Given the description of an element on the screen output the (x, y) to click on. 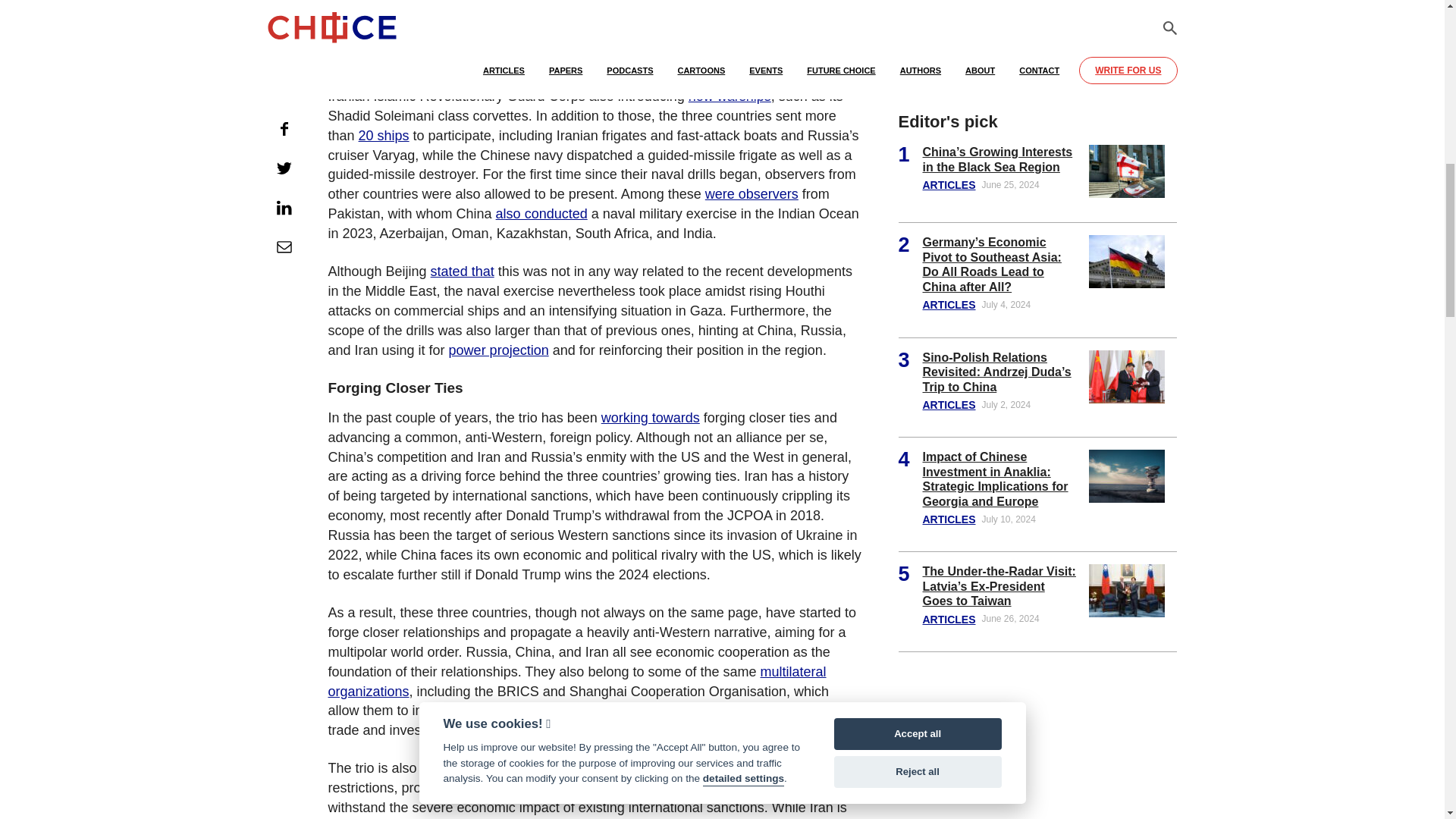
20 ships (383, 135)
strategically important straits (413, 76)
new warships (729, 96)
working towards (650, 417)
also conducted (542, 213)
Share by Email (282, 13)
stated that (462, 271)
longer-term (428, 7)
power projection (498, 350)
were observers (750, 193)
